Given the description of an element on the screen output the (x, y) to click on. 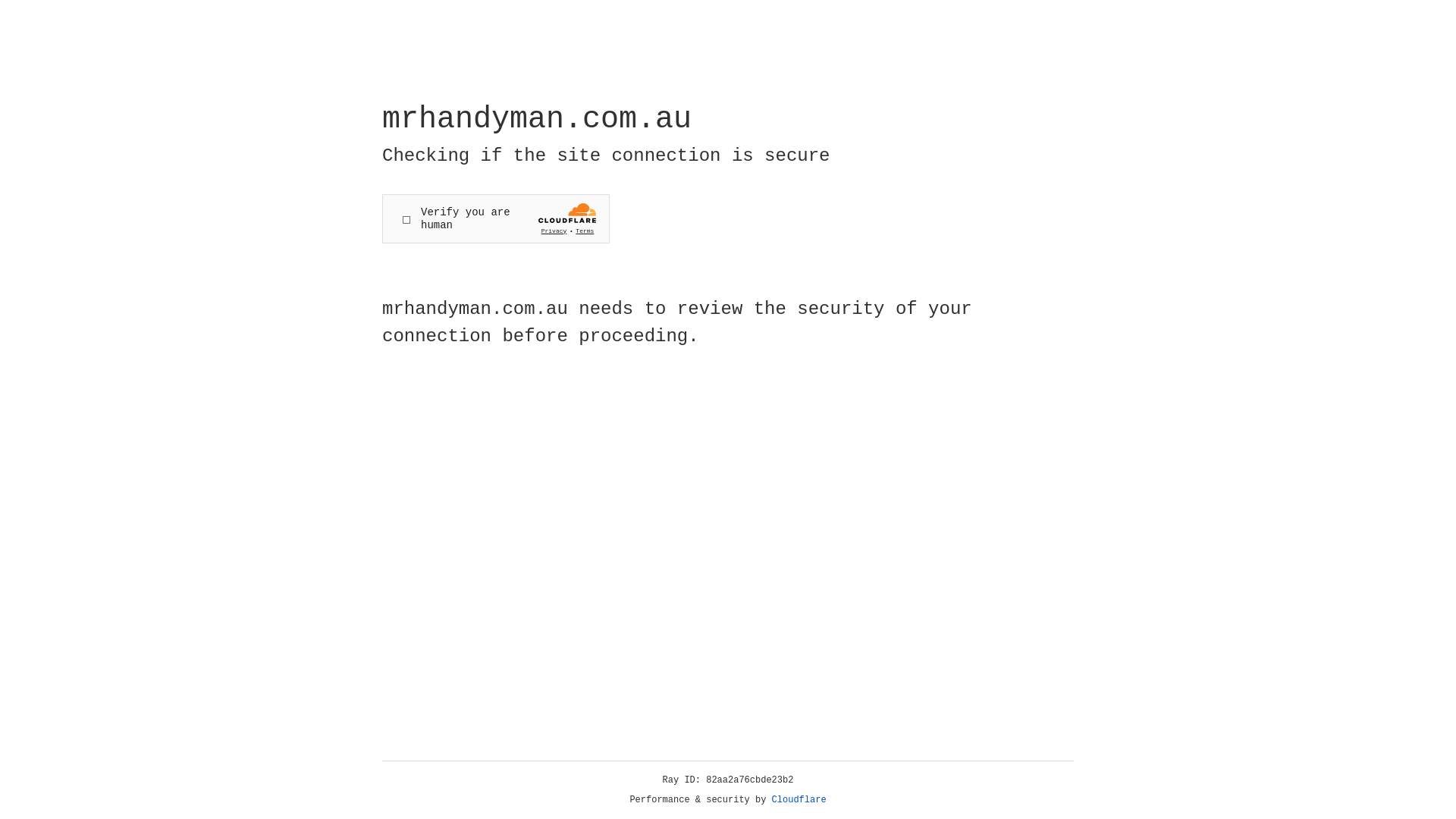
Widget containing a Cloudflare security challenge Element type: hover (495, 218)
Cloudflare Element type: text (798, 799)
